Given the description of an element on the screen output the (x, y) to click on. 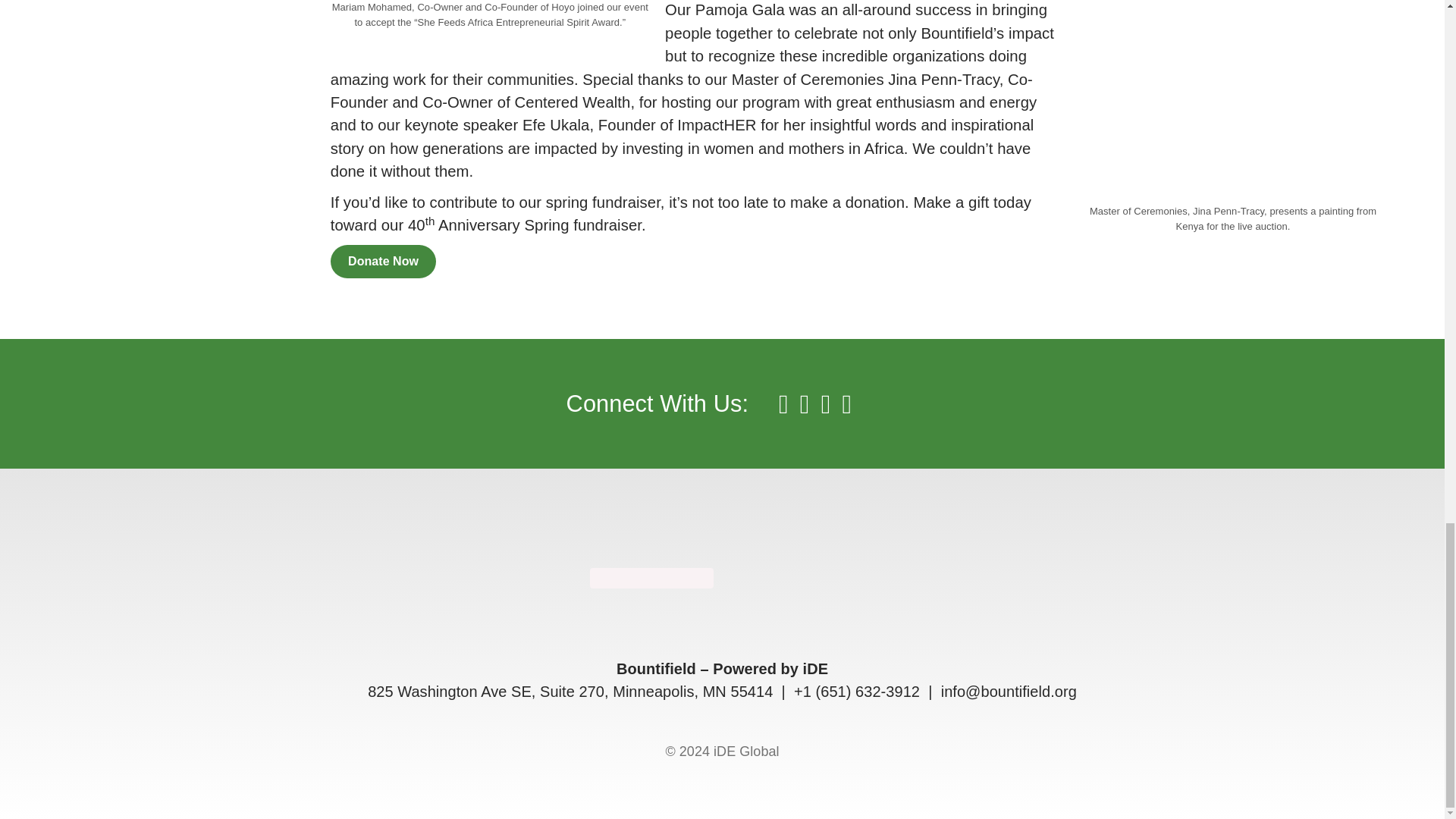
Donate Now (383, 261)
